Given the description of an element on the screen output the (x, y) to click on. 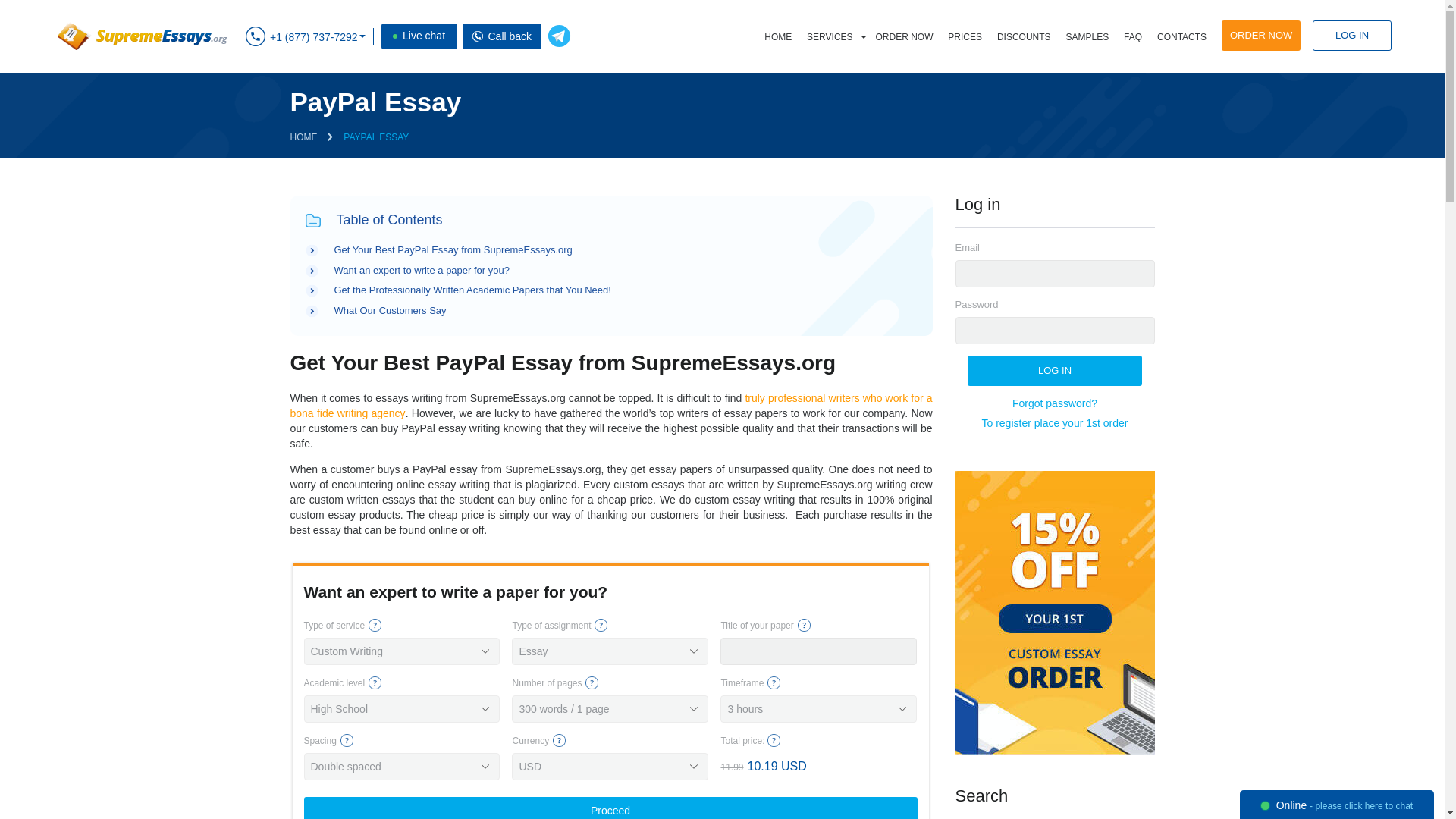
Call back (477, 36)
Get Your Best PayPal Essay from SupremeEssays.org (452, 249)
CONTACTS (1181, 36)
PRICES (965, 36)
Supremeessays.org (143, 36)
HOME (777, 36)
DISCOUNTS (1024, 36)
FAQ (1133, 36)
SAMPLES (1087, 36)
